Given the description of an element on the screen output the (x, y) to click on. 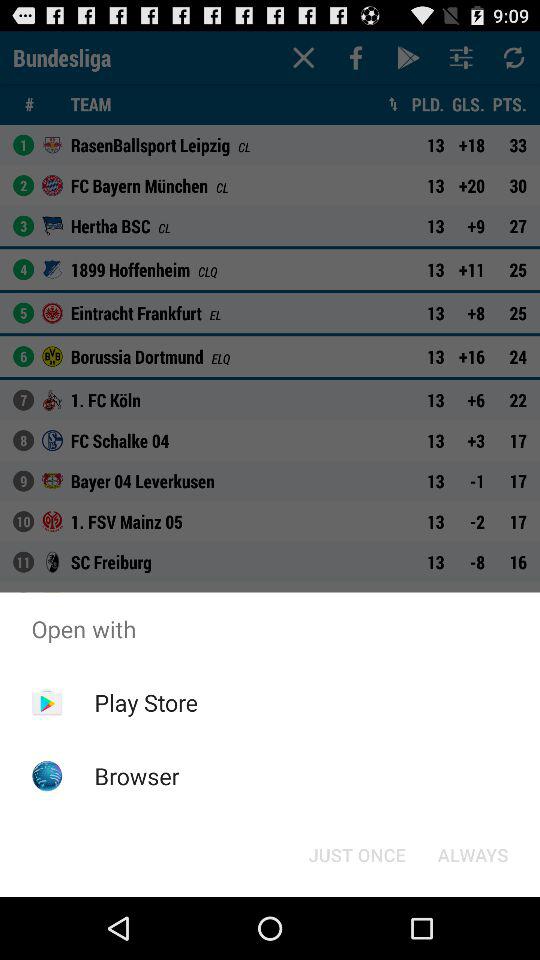
launch the app below open with app (356, 854)
